Given the description of an element on the screen output the (x, y) to click on. 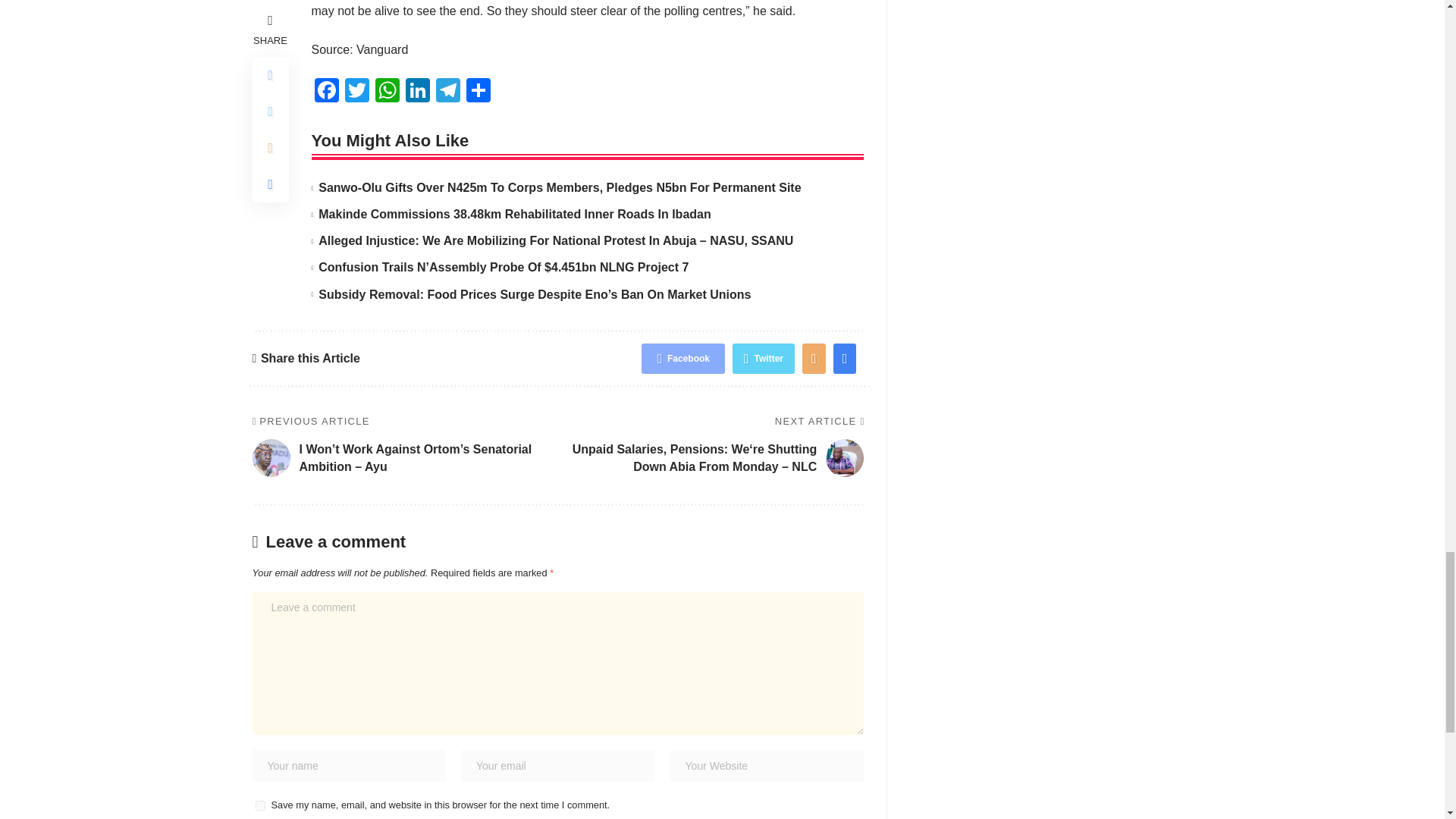
yes (259, 805)
